Given the description of an element on the screen output the (x, y) to click on. 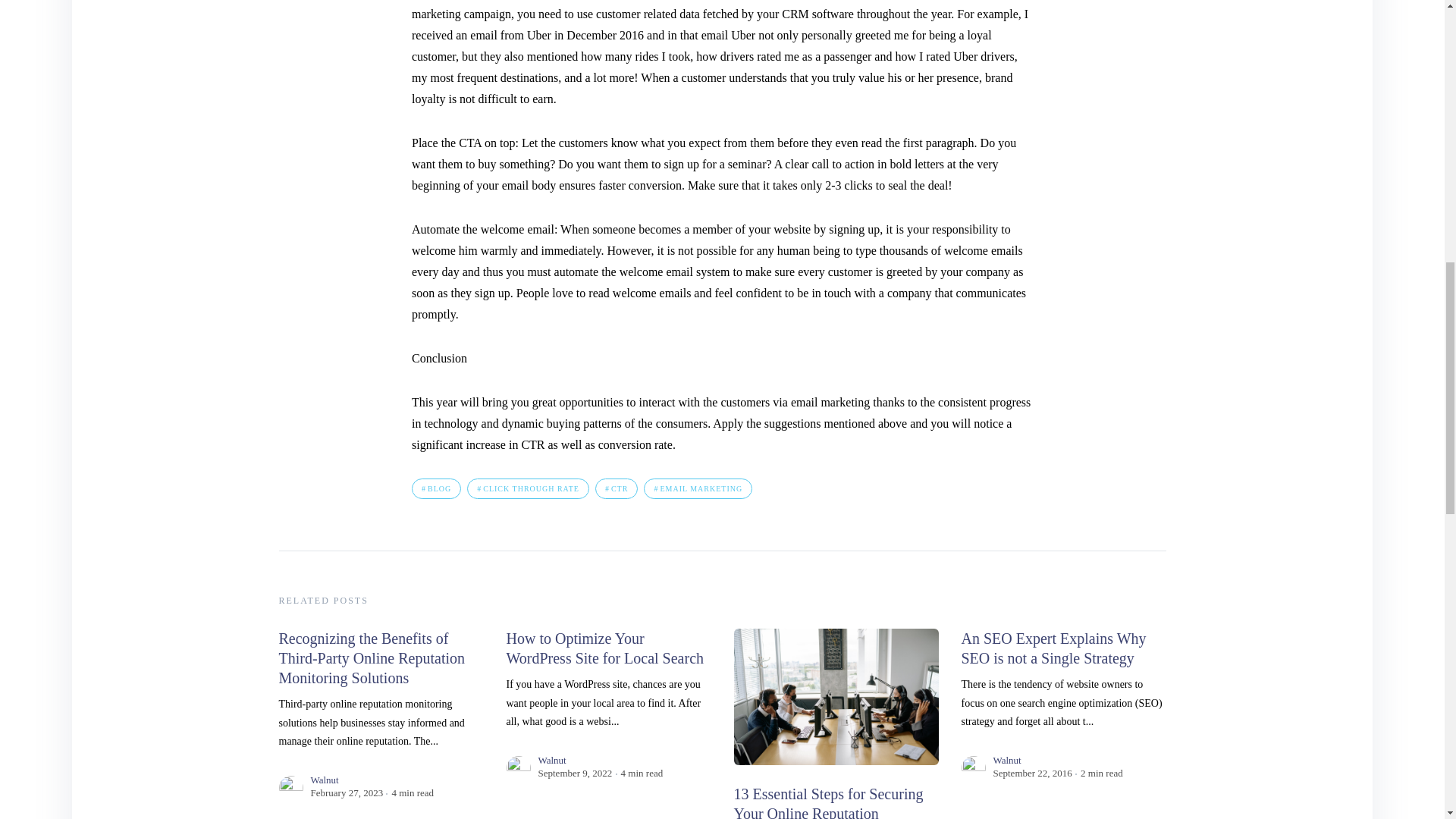
13 Essential Steps for Securing Your Online Reputation  (828, 802)
CTR (616, 488)
BLOG (436, 488)
An SEO Expert Explains Why SEO is not a Single Strategy (1053, 647)
EMAIL MARKETING (697, 488)
How to Optimize Your WordPress Site for Local Search (605, 647)
CLICK THROUGH RATE (528, 488)
